Given the description of an element on the screen output the (x, y) to click on. 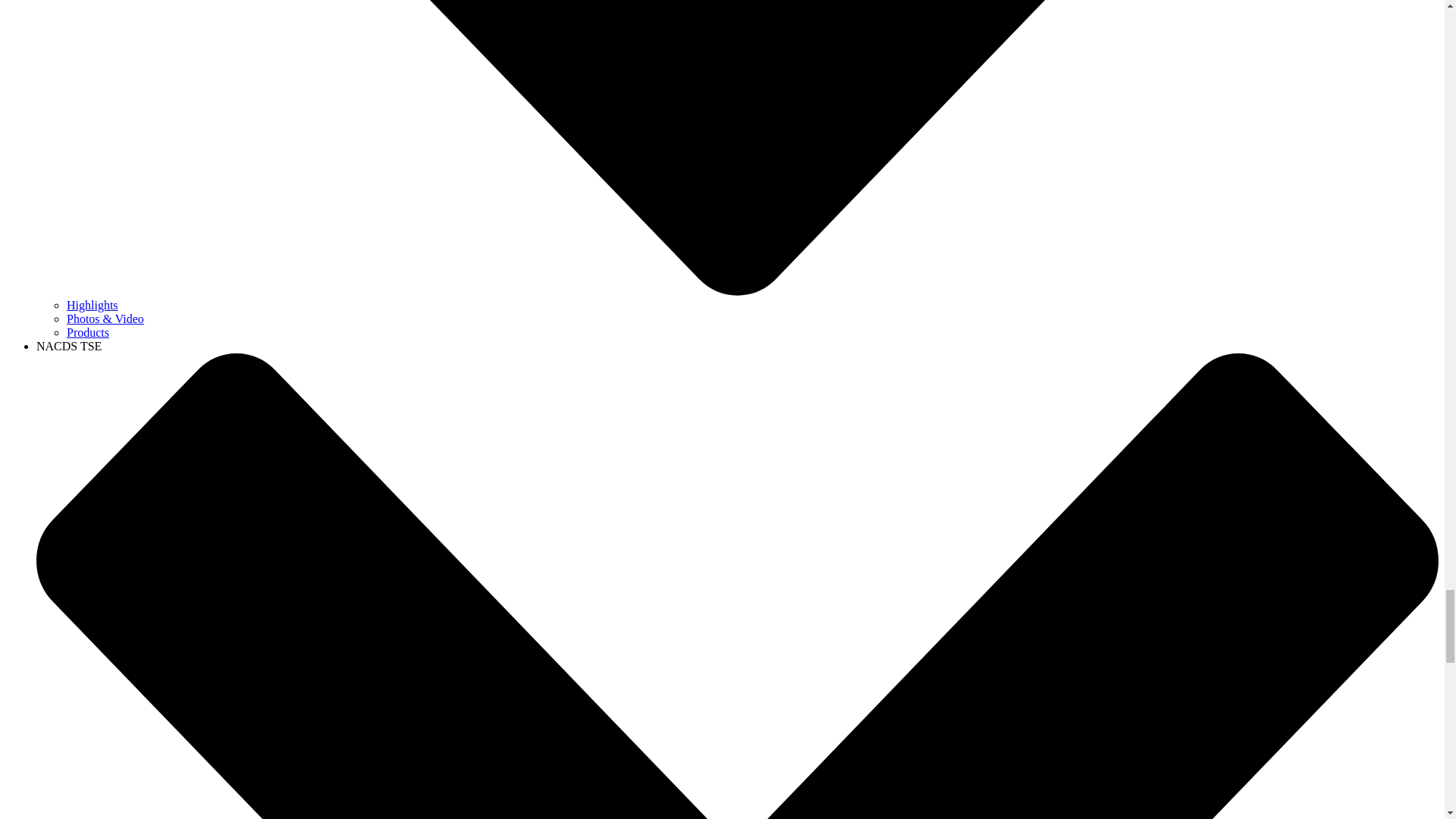
NACDS TSE (68, 345)
Products (87, 332)
Highlights (91, 305)
